Given the description of an element on the screen output the (x, y) to click on. 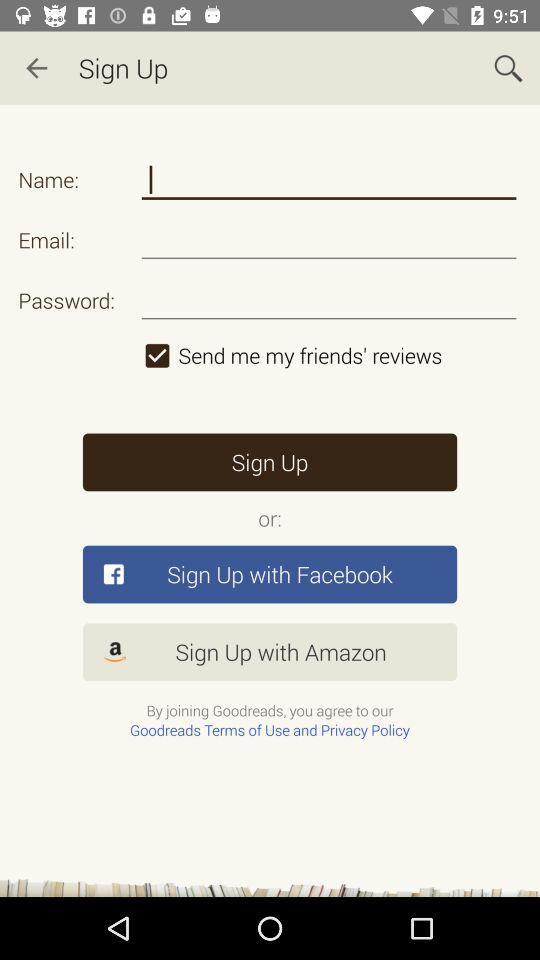
choose icon next to the sign up (508, 67)
